Given the description of an element on the screen output the (x, y) to click on. 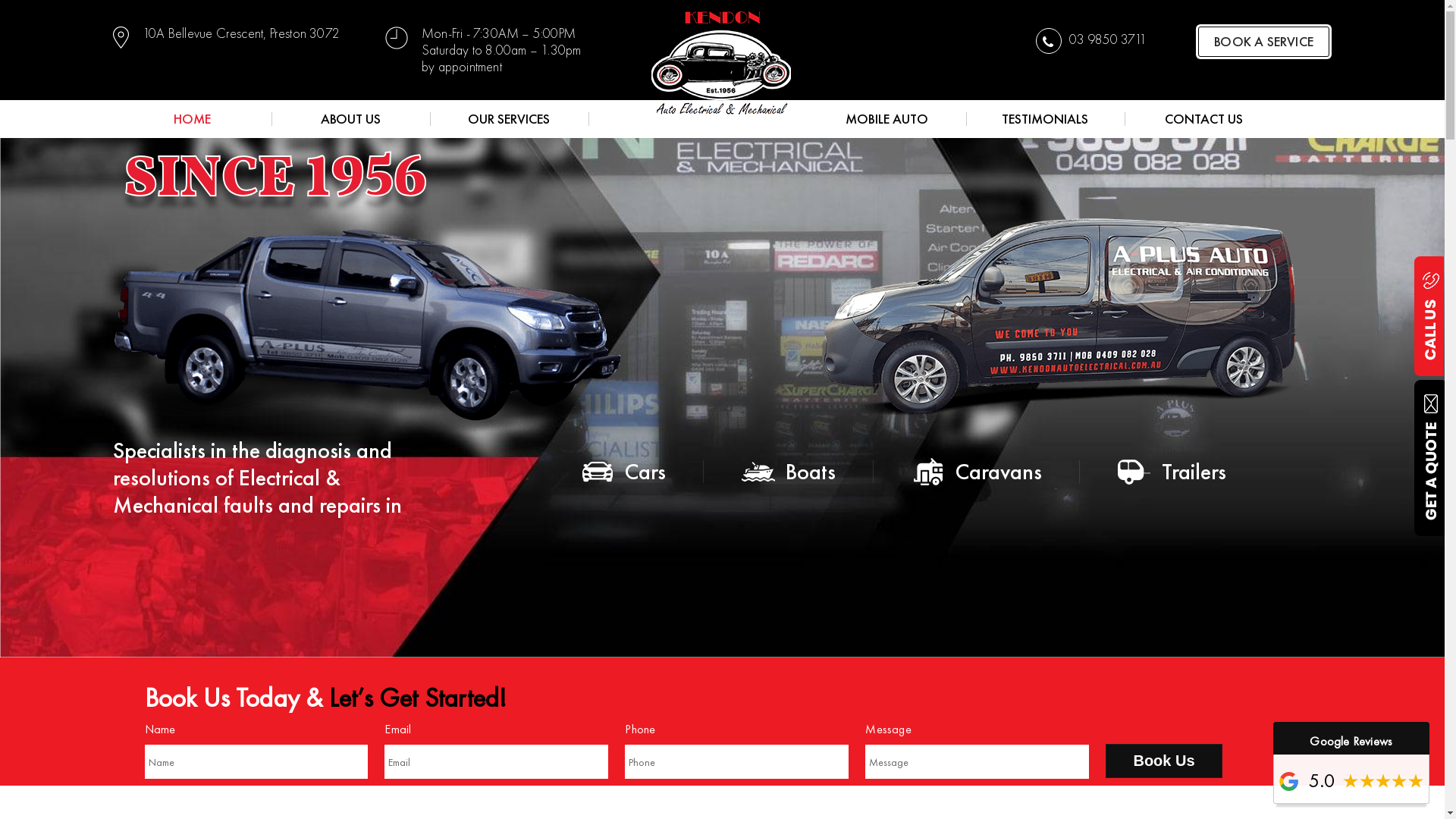
BOOK A SERVICE Element type: text (1263, 41)
Book Us Element type: text (1163, 760)
HOME Element type: text (191, 119)
ABOUT US Element type: text (350, 119)
Powered by Google Element type: hover (1288, 780)
CONTACT US Element type: text (1203, 119)
OUR SERVICES Element type: text (508, 119)
TESTIMONIALS Element type: text (1045, 119)
03 9850 3711 Element type: text (1090, 40)
MOBILE AUTO Element type: text (886, 119)
